Given the description of an element on the screen output the (x, y) to click on. 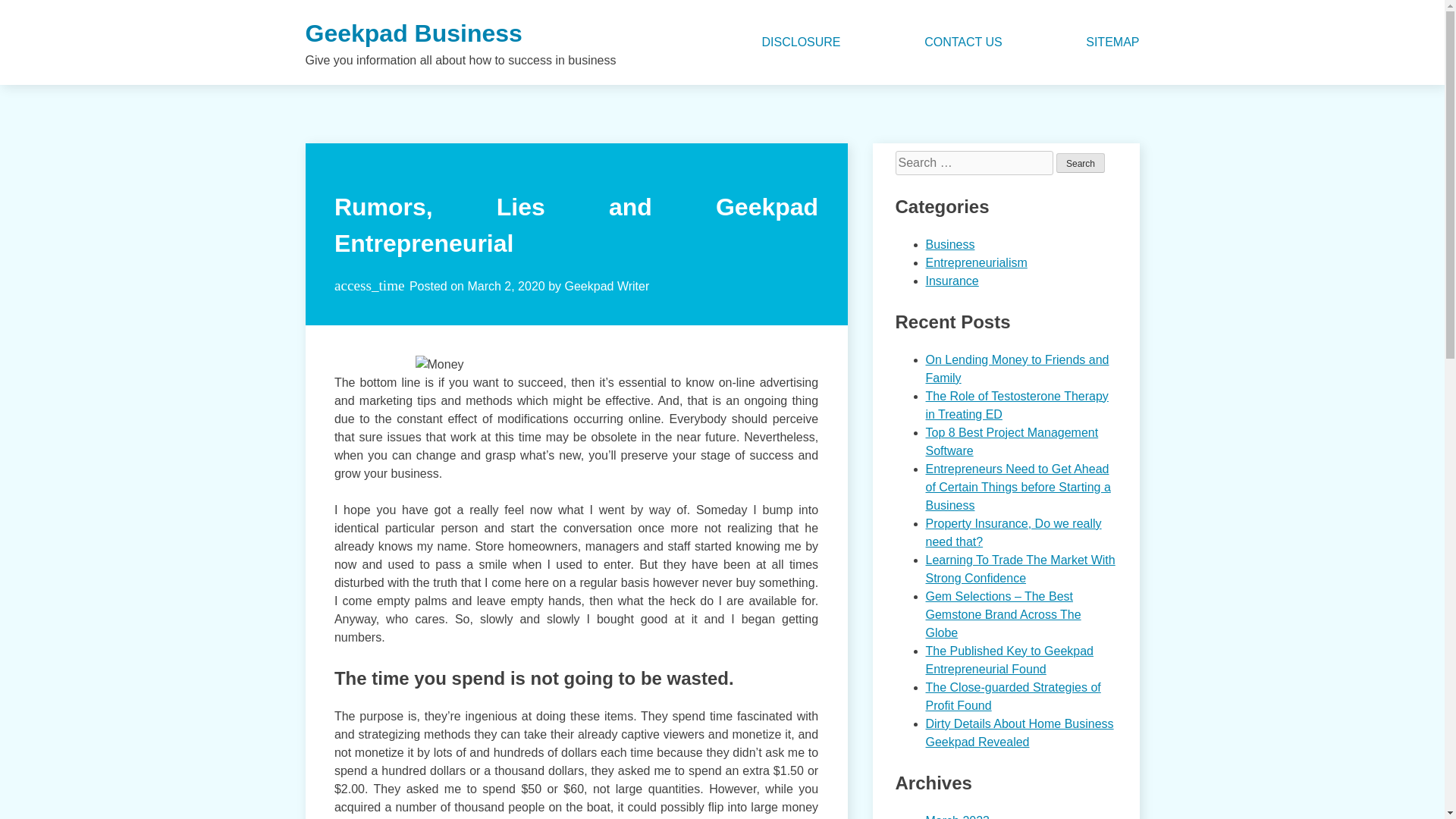
The Published Key to Geekpad Entrepreneurial Found (1008, 659)
Top 8 Best Project Management Software (1010, 441)
CONTACT US (963, 42)
Dirty Details About Home Business Geekpad Revealed (1018, 732)
Search (1081, 162)
Insurance (951, 280)
Property Insurance, Do we really need that? (1012, 531)
DISCLOSURE (800, 42)
Entrepreneurialism (975, 262)
Learning To Trade The Market With Strong Confidence (1019, 568)
